Given the description of an element on the screen output the (x, y) to click on. 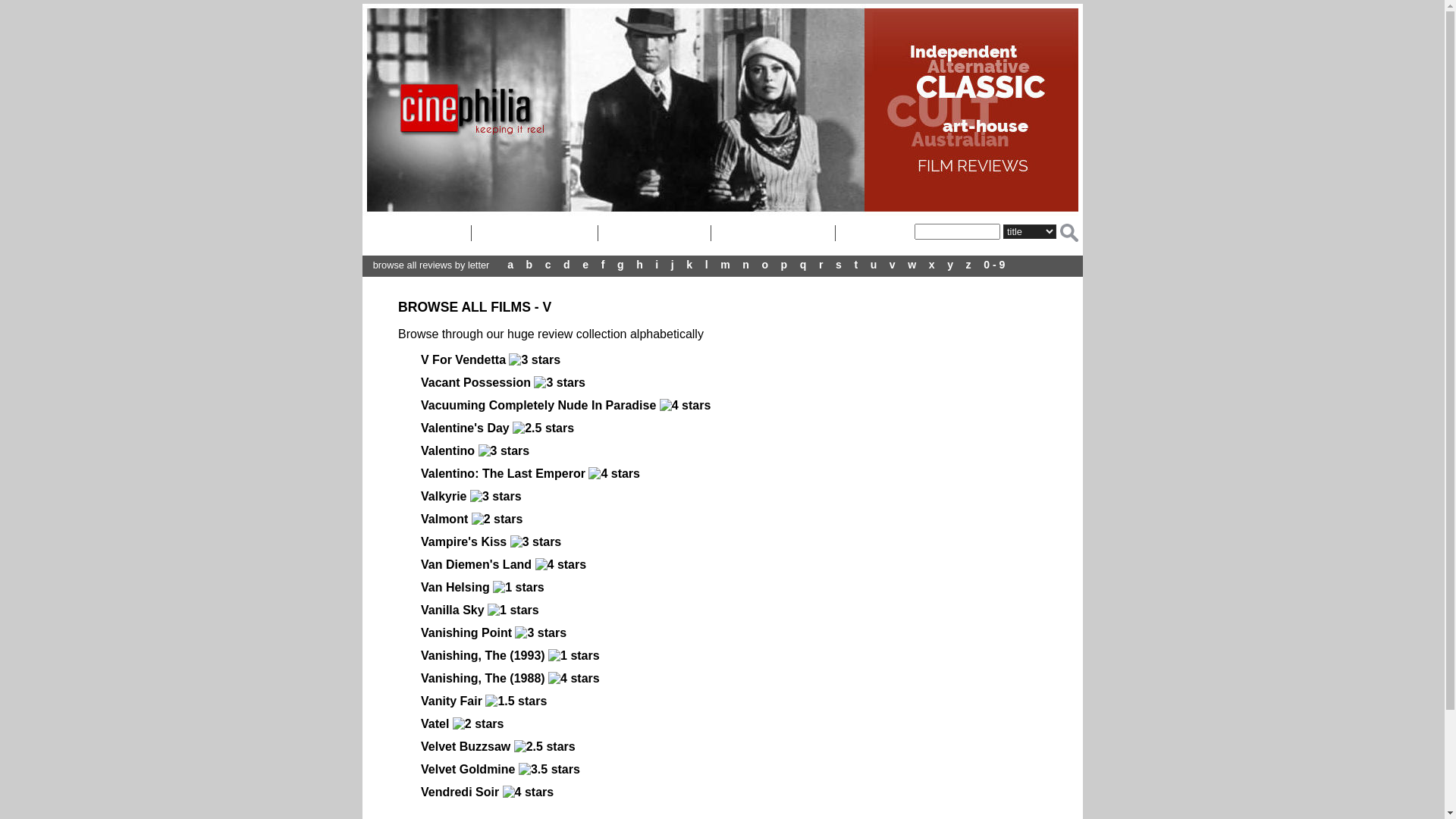
Australiana Element type: text (534, 233)
c Element type: text (548, 264)
Vatel Element type: text (434, 723)
b Element type: text (529, 264)
V For Vendetta Element type: text (462, 359)
Valentine's Day Element type: text (466, 427)
e Element type: text (585, 264)
j Element type: text (672, 264)
i Element type: text (656, 264)
Van Diemen's Land Element type: text (475, 564)
Van Helsing Element type: text (454, 586)
Vanishing, The (1993) Element type: text (484, 655)
Vampire's Kiss Element type: text (465, 541)
Vanity Fair Element type: text (451, 700)
m Element type: text (725, 264)
o Element type: text (764, 264)
Cinefiles Element type: text (416, 233)
About Us Element type: text (654, 233)
Vanishing, The (1988) Element type: text (482, 677)
Valmont Element type: text (443, 518)
a Element type: text (510, 264)
Valentino: The Last Emperor Element type: text (502, 473)
t Element type: text (855, 264)
Vendredi Soir Element type: text (459, 791)
n Element type: text (745, 264)
v Element type: text (892, 264)
q Element type: text (803, 264)
r Element type: text (820, 264)
s Element type: text (838, 264)
k Element type: text (689, 264)
u Element type: text (873, 264)
Valkyrie Element type: text (443, 495)
l Element type: text (706, 264)
0 - 9 Element type: text (993, 264)
d Element type: text (566, 264)
Vacant Possession Element type: text (475, 382)
z Element type: text (968, 264)
Velvet Goldmine Element type: text (467, 768)
Contact Us Element type: text (773, 233)
Vanishing Point Element type: text (465, 632)
f Element type: text (603, 264)
Velvet Buzzsaw Element type: text (467, 746)
Valentino Element type: text (447, 450)
w Element type: text (911, 264)
Vacuuming Completely Nude In Paradise Element type: text (537, 404)
Vanilla Sky Element type: text (452, 609)
p Element type: text (784, 264)
h Element type: text (639, 264)
g Element type: text (620, 264)
x Element type: text (931, 264)
y Element type: text (950, 264)
